Given the description of an element on the screen output the (x, y) to click on. 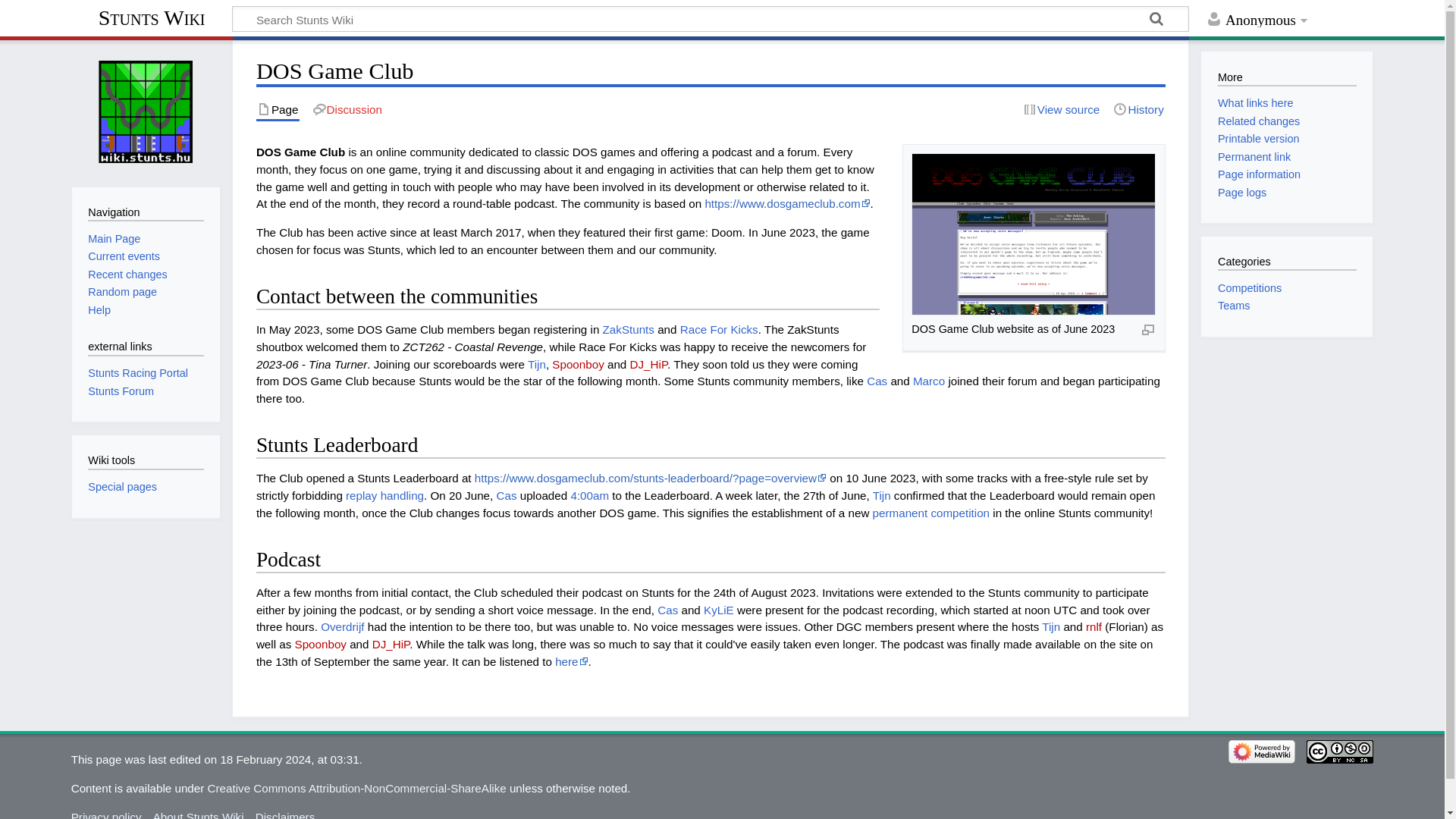
Tijn (881, 495)
4:00am (589, 495)
Race For Kicks (718, 328)
Go (1155, 21)
Search the pages for this text (1155, 21)
ZakStunts (627, 328)
Cas (506, 495)
Cas (876, 380)
Page (277, 109)
KyLiE (718, 609)
ZakStunts (627, 328)
Tijn (536, 364)
Main Page (113, 238)
Spoonboy (320, 644)
Replay handling (384, 495)
